Given the description of an element on the screen output the (x, y) to click on. 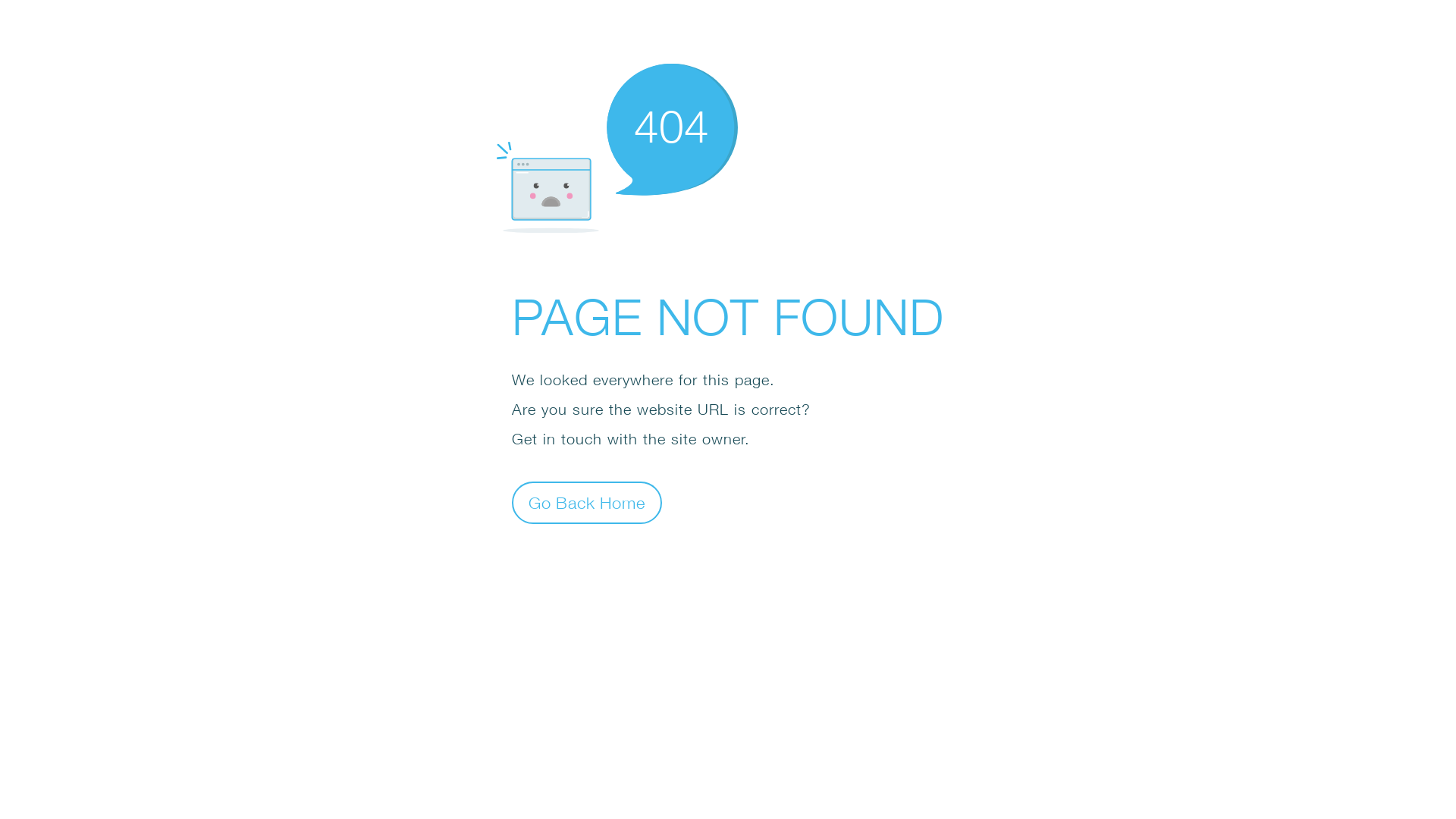
Go Back Home Element type: text (586, 502)
